Given the description of an element on the screen output the (x, y) to click on. 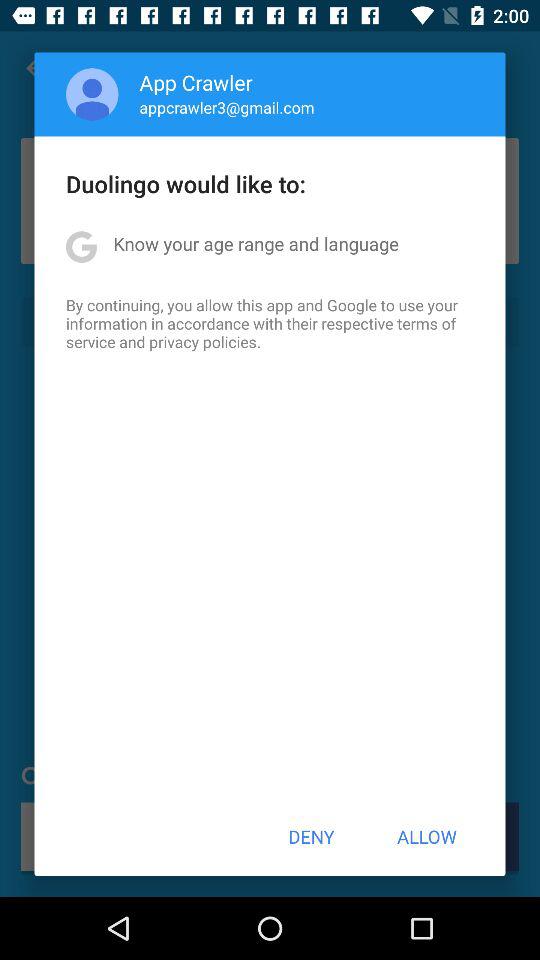
scroll to the app crawler app (195, 82)
